Given the description of an element on the screen output the (x, y) to click on. 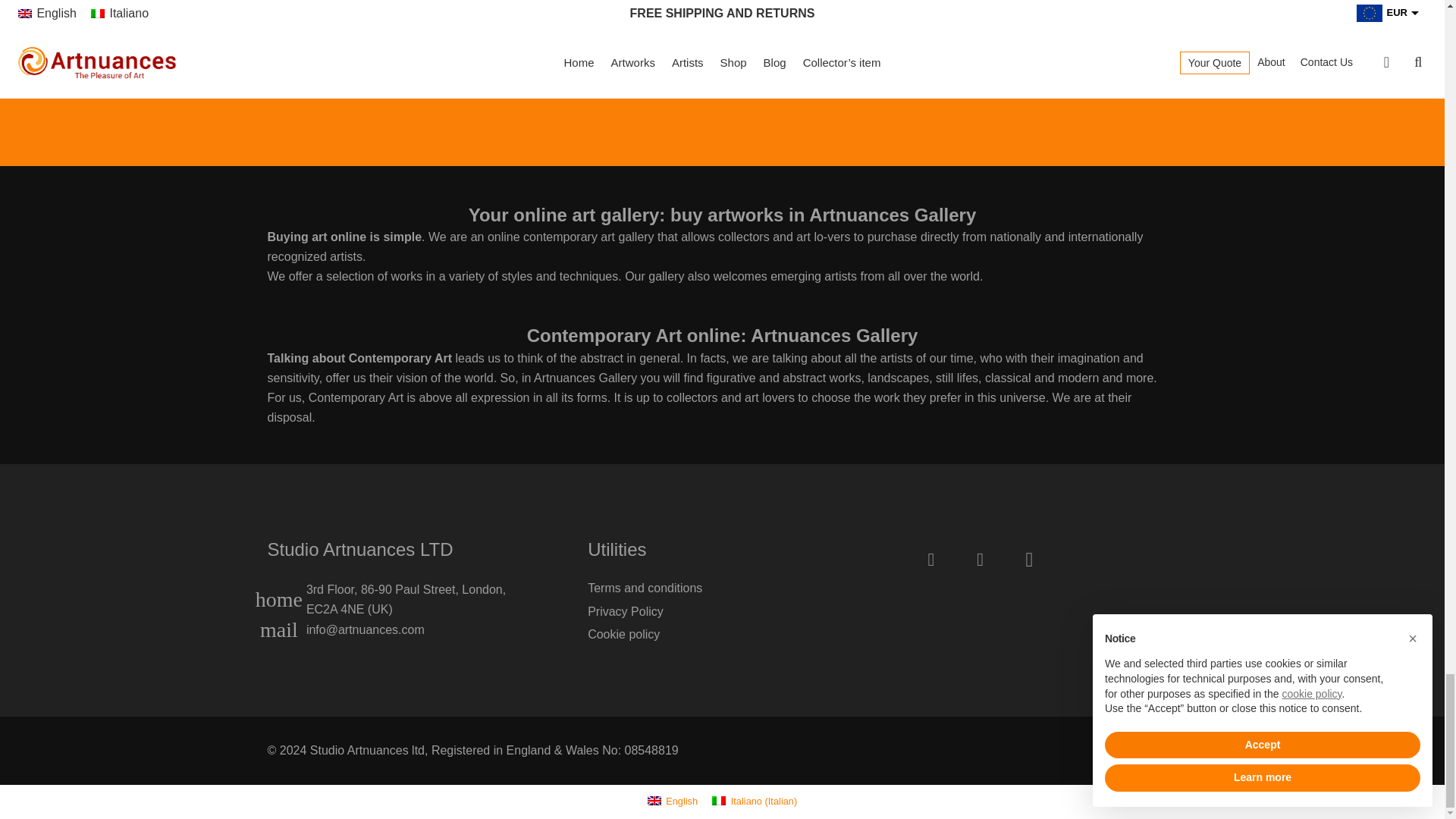
Facebook (930, 559)
Instagram (1028, 559)
YouTube (980, 559)
